Given the description of an element on the screen output the (x, y) to click on. 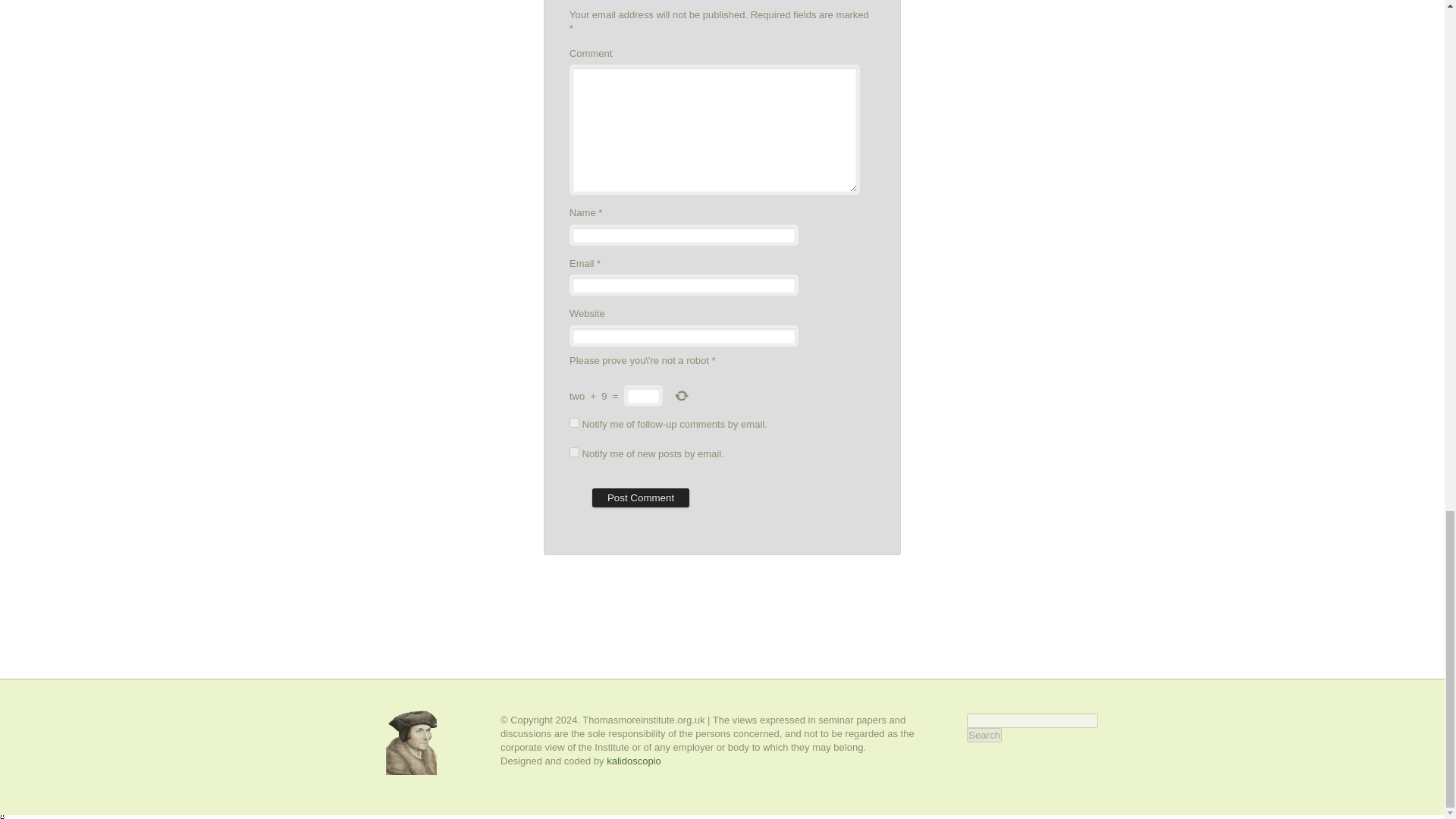
subscribe (574, 452)
Post Comment (640, 497)
Search (983, 735)
Post Comment (640, 497)
subscribe (574, 422)
